Given the description of an element on the screen output the (x, y) to click on. 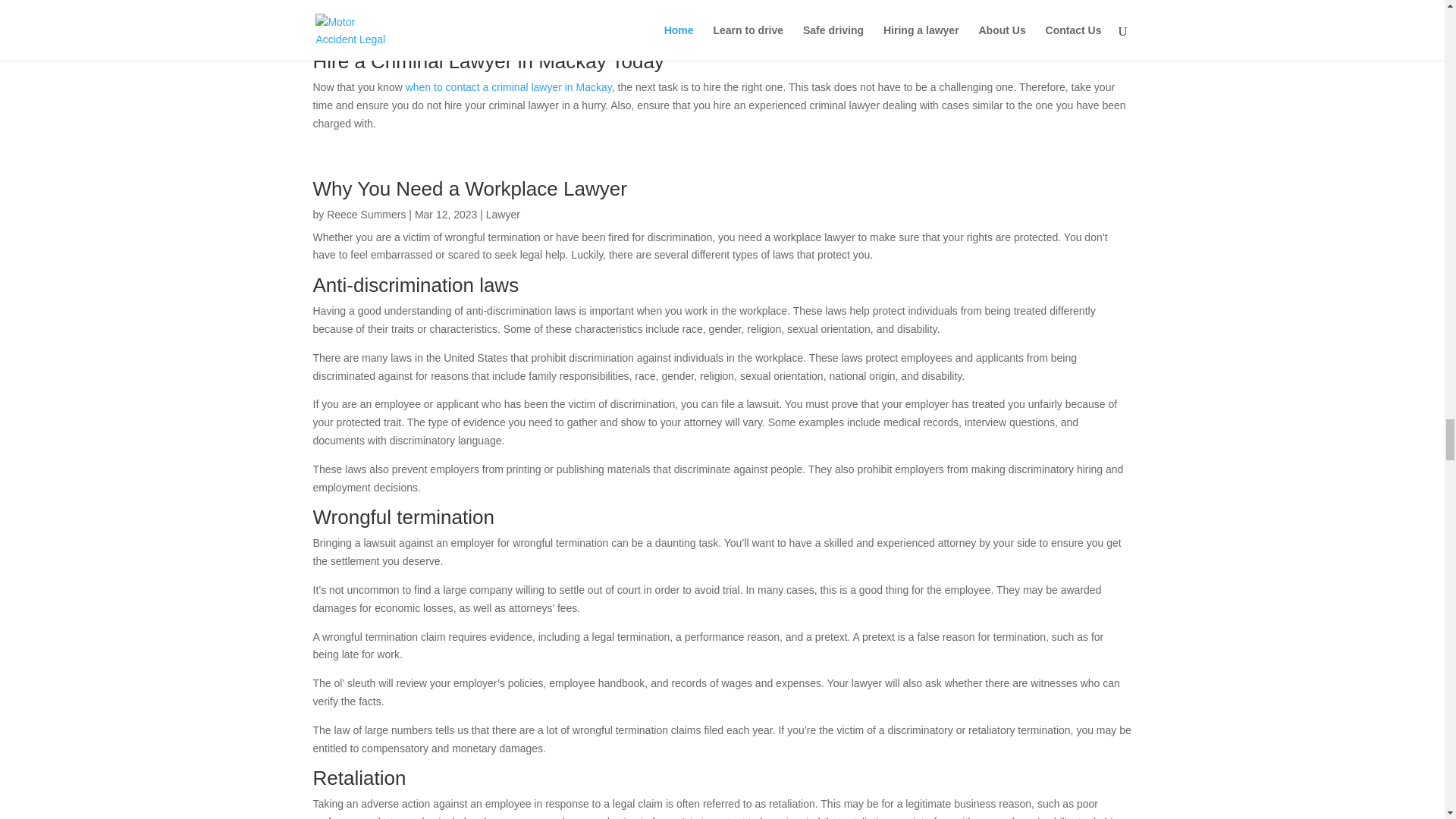
Reece Summers (366, 214)
Why You Need a Workplace Lawyer (469, 188)
Lawyer (502, 214)
when to contact a criminal lawyer in Mackay (508, 87)
